Given the description of an element on the screen output the (x, y) to click on. 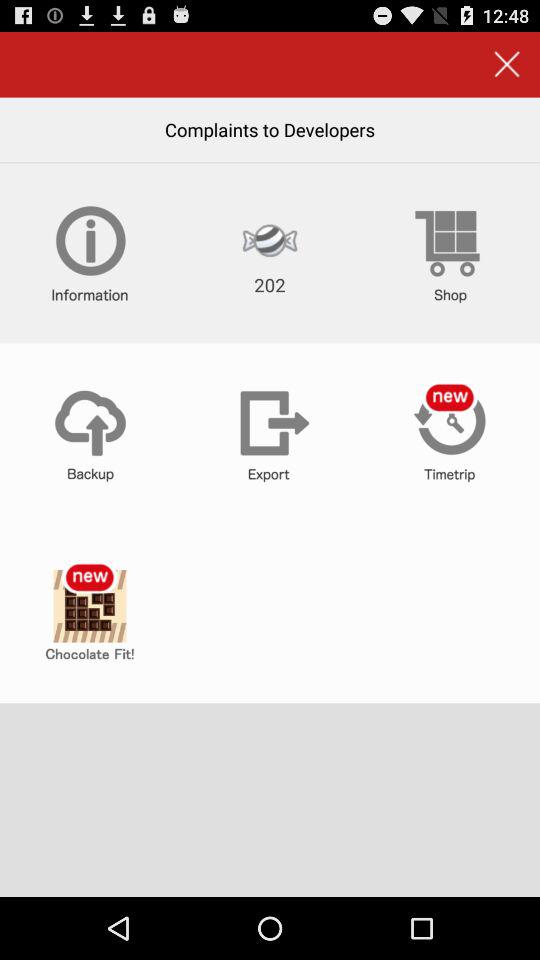
export data from app (270, 433)
